Given the description of an element on the screen output the (x, y) to click on. 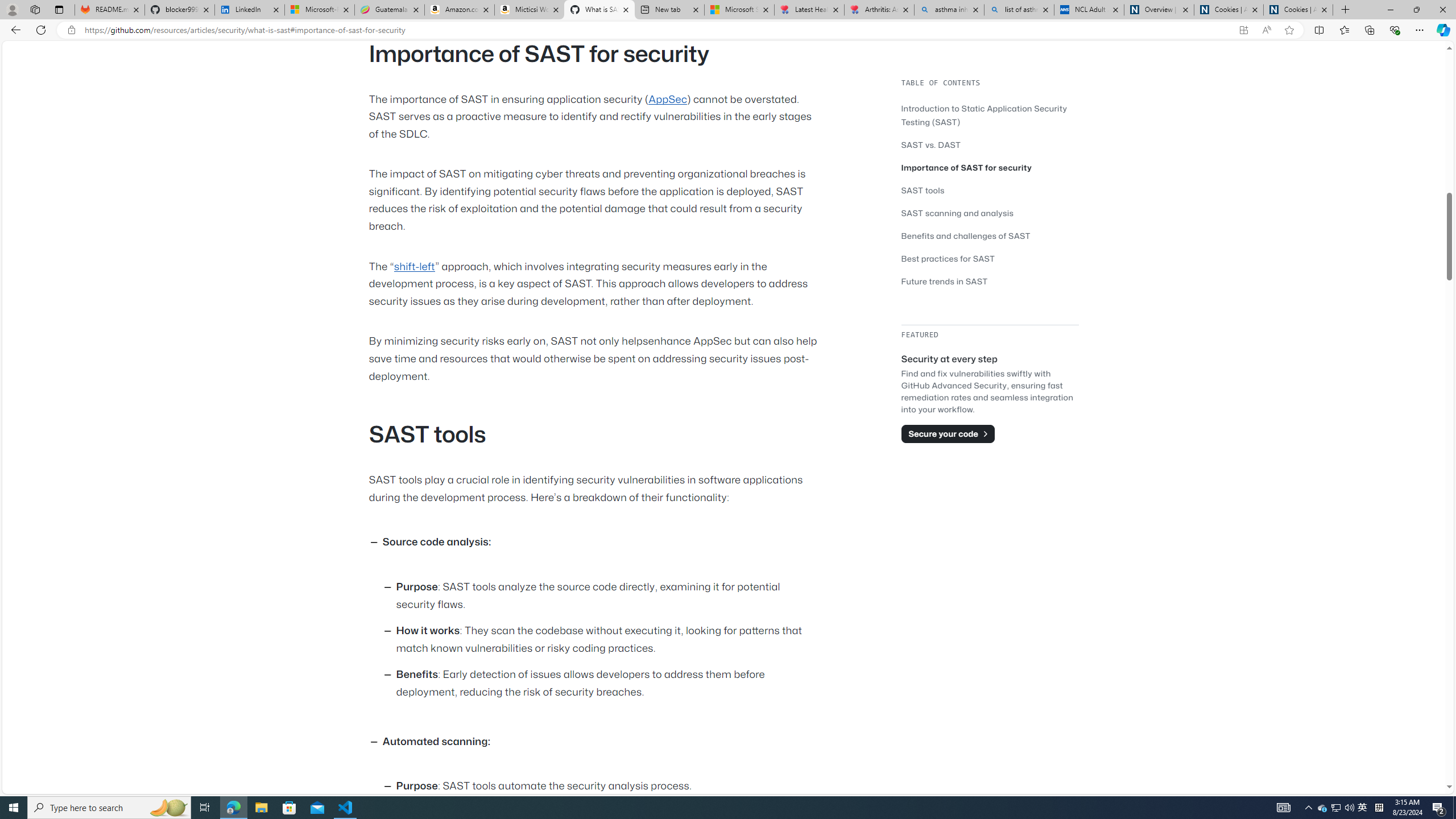
Secure your code (947, 433)
shift-left (414, 266)
SAST vs. DAST (930, 144)
SAST scanning and analysis (957, 212)
App available. Install GitHub (1243, 29)
Benefits and challenges of SAST (989, 235)
Best practices for SAST (948, 258)
